Given the description of an element on the screen output the (x, y) to click on. 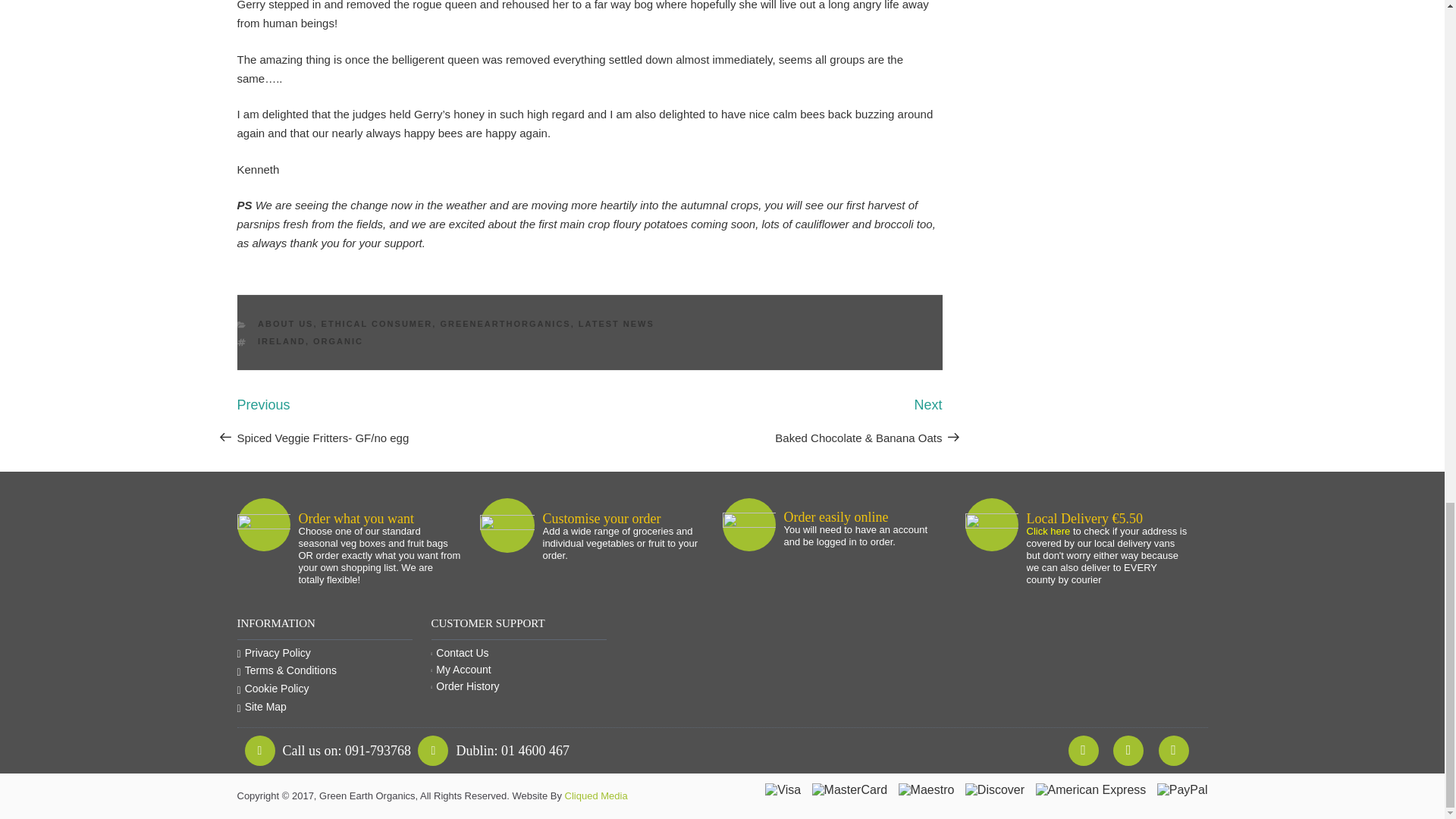
ETHICAL CONSUMER (376, 323)
ABOUT US (285, 323)
ORGANIC (337, 339)
GREENEARTHORGANICS (504, 323)
LATEST NEWS (615, 323)
IRELAND (281, 339)
